Given the description of an element on the screen output the (x, y) to click on. 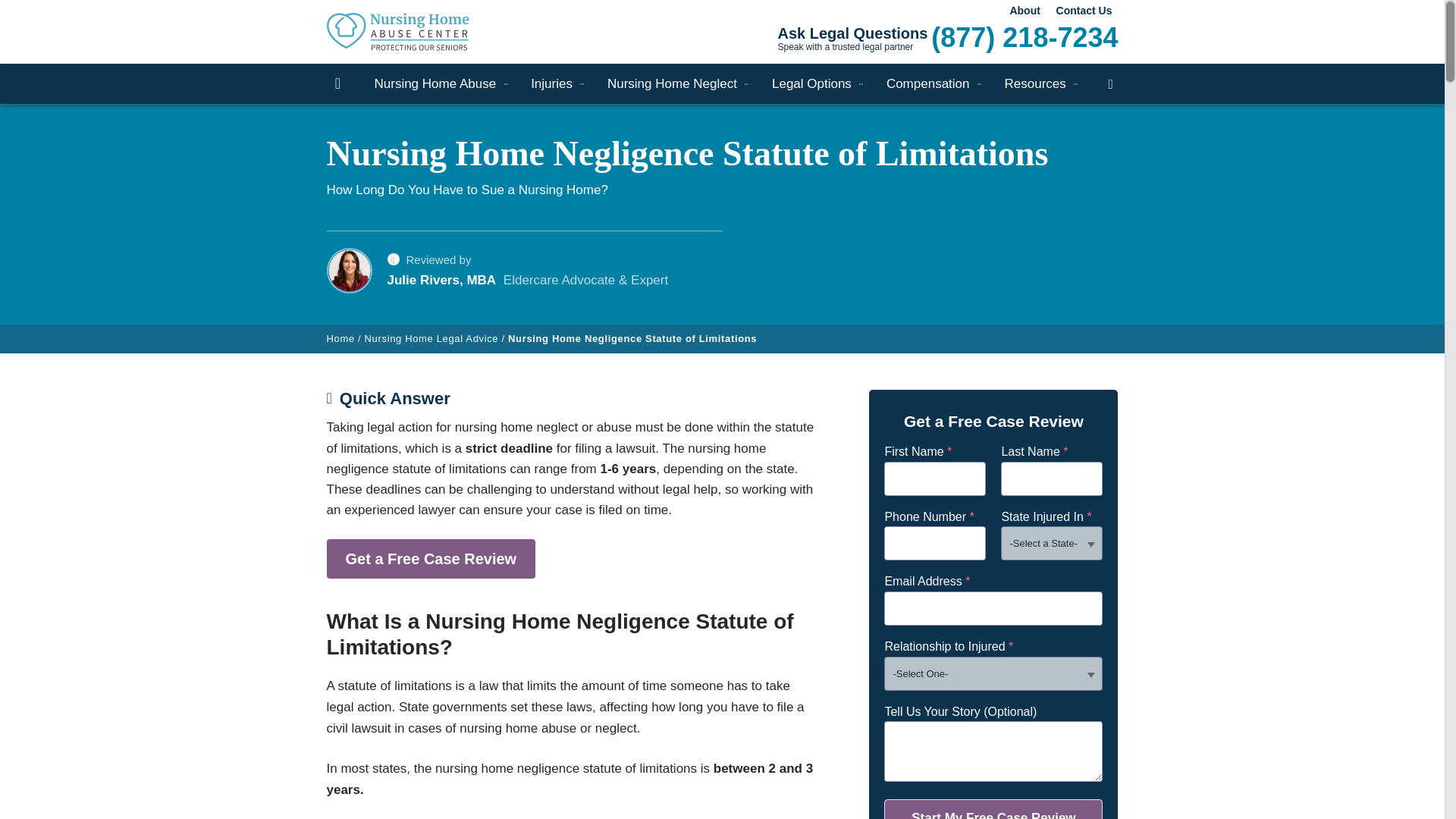
Nursing Home Abuse Center (418, 31)
Home (337, 83)
Nursing Home Abuse Center (418, 31)
Injuries (551, 83)
Contact Nursing Home Abuse Center (1084, 10)
Nursing Home Abuse (434, 83)
About (1024, 10)
About Nursing Home Abuse Center (1024, 10)
Nursing Home Abuse (434, 83)
Home (337, 83)
Contact Us (1084, 10)
